Given the description of an element on the screen output the (x, y) to click on. 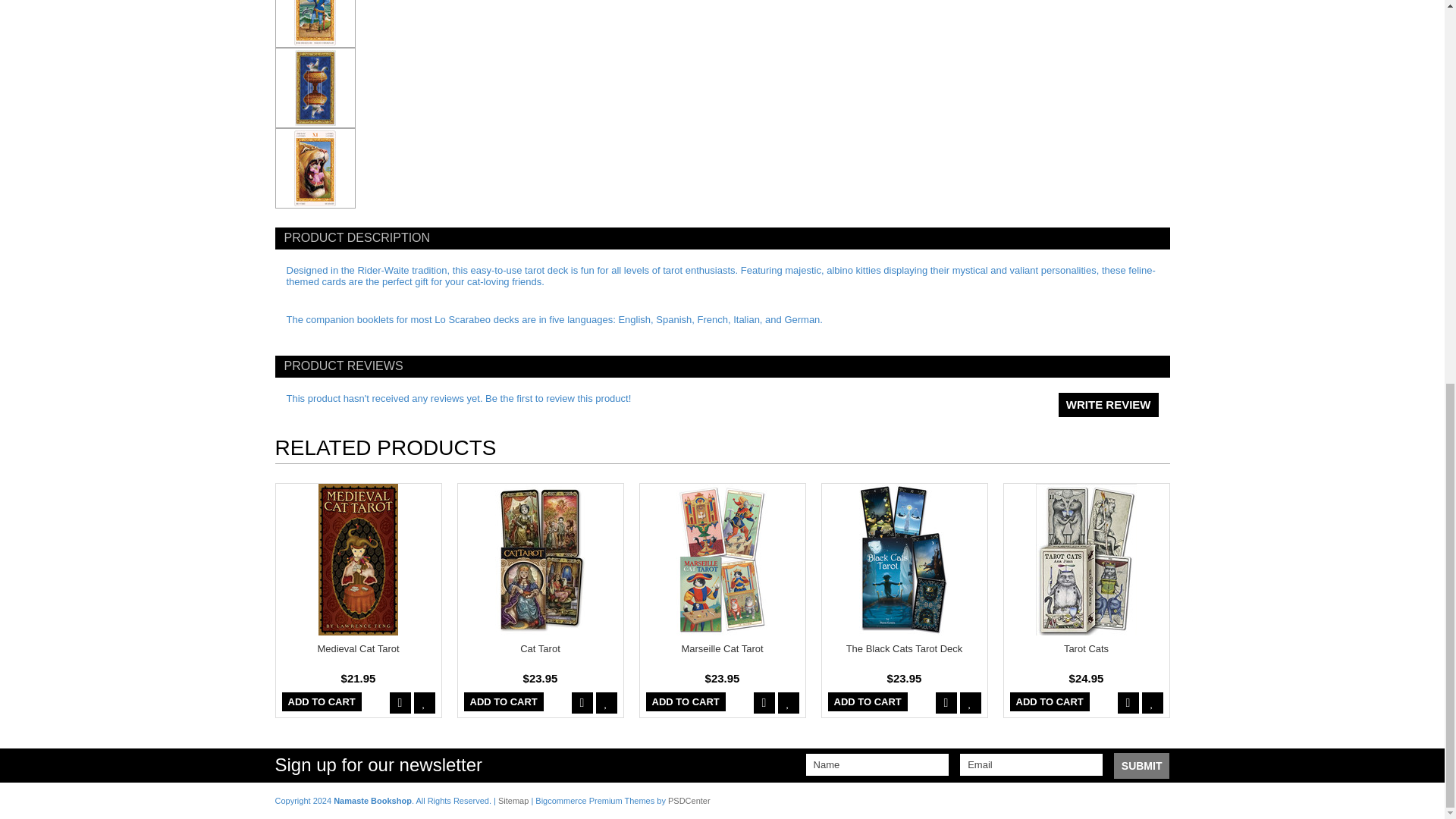
Submit (1141, 765)
Email (1031, 764)
Name (877, 764)
